Given the description of an element on the screen output the (x, y) to click on. 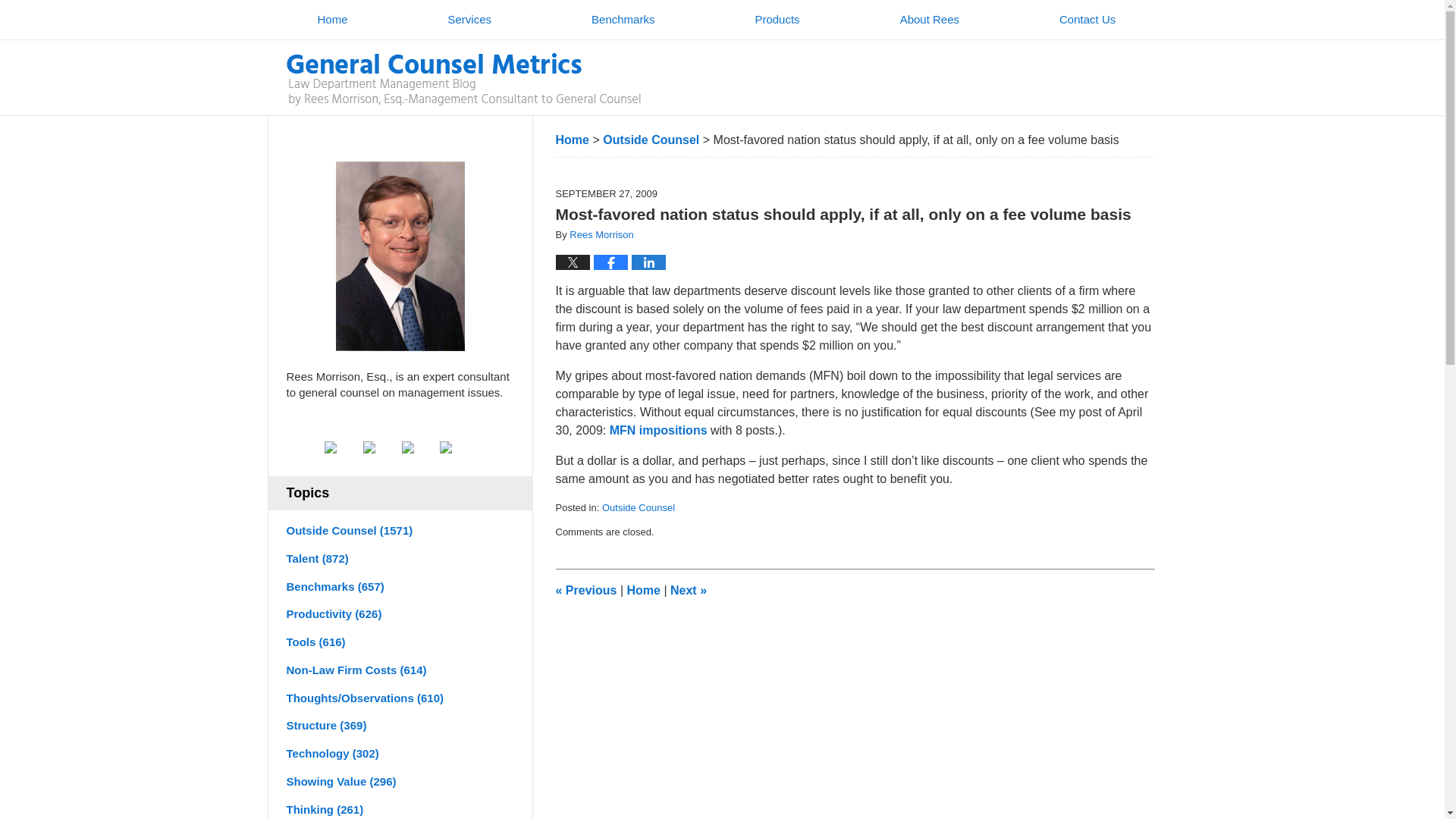
Services (469, 19)
Justia (419, 447)
Benchmarks (622, 19)
Outside Counsel (650, 139)
Home (331, 19)
Twitter (341, 447)
LinkedIn (380, 447)
MFN impositions (658, 430)
Home (571, 139)
